Given the description of an element on the screen output the (x, y) to click on. 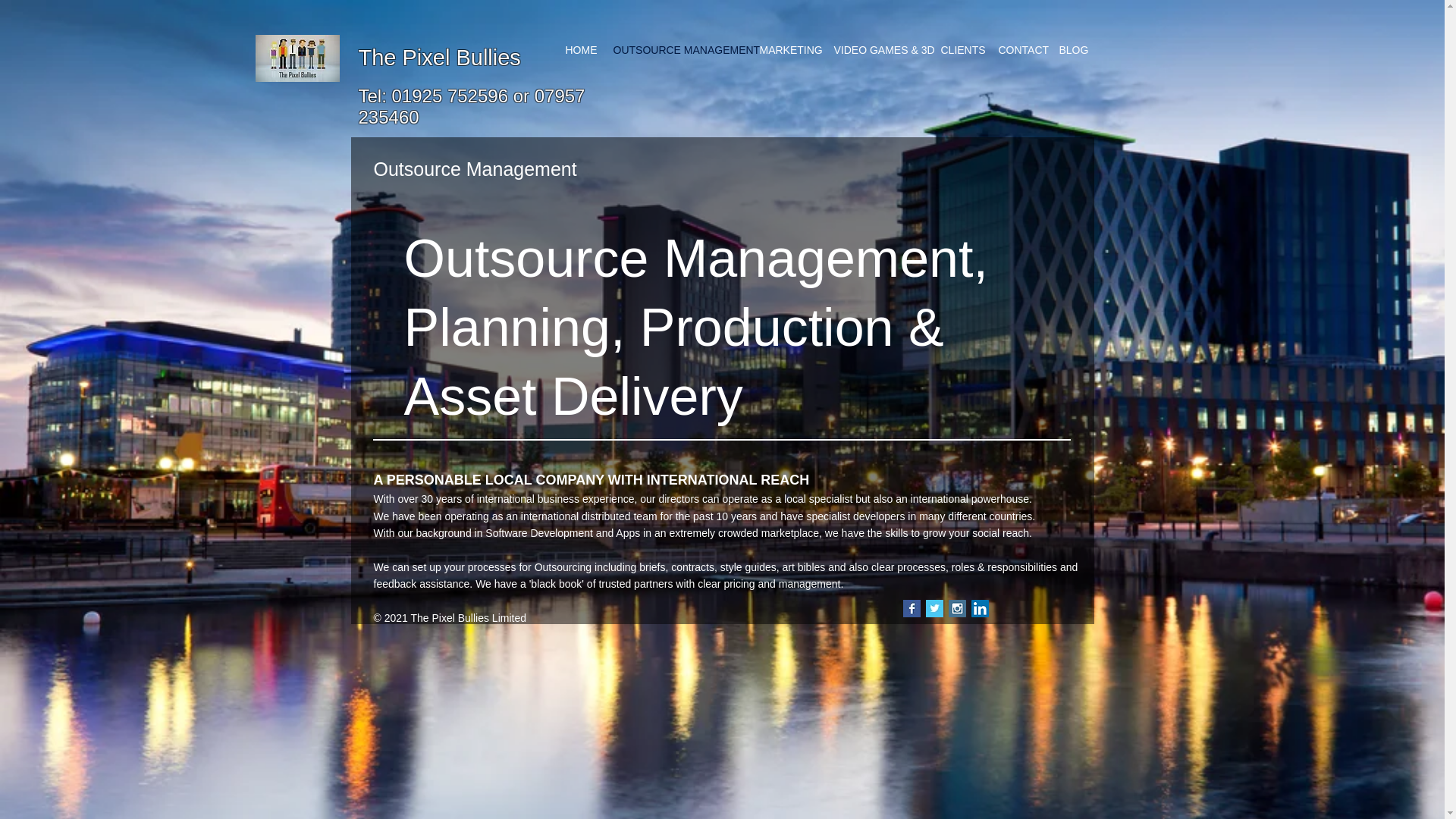
The Pixel Bullies (438, 57)
Tel: 01925 752596 or 07957 235460 (471, 106)
BLOG (1071, 49)
CLIENTS (959, 49)
CONTACT (1018, 49)
HOME (578, 49)
OUTSOURCE MANAGEMENT (676, 49)
MARKETING (786, 49)
